Given the description of an element on the screen output the (x, y) to click on. 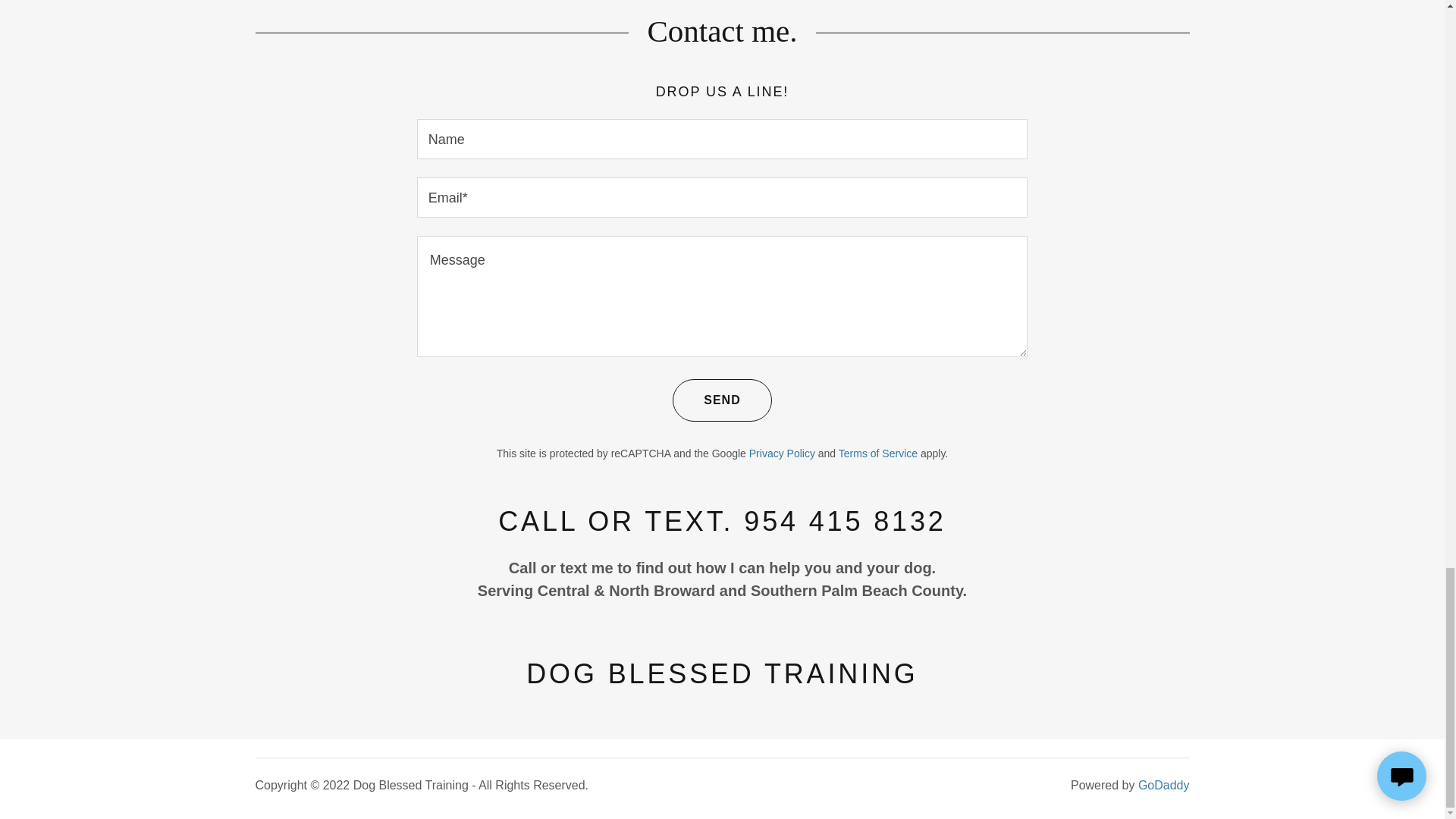
Privacy Policy (782, 453)
GoDaddy (1163, 784)
Terms of Service (877, 453)
SEND (721, 400)
